Given the description of an element on the screen output the (x, y) to click on. 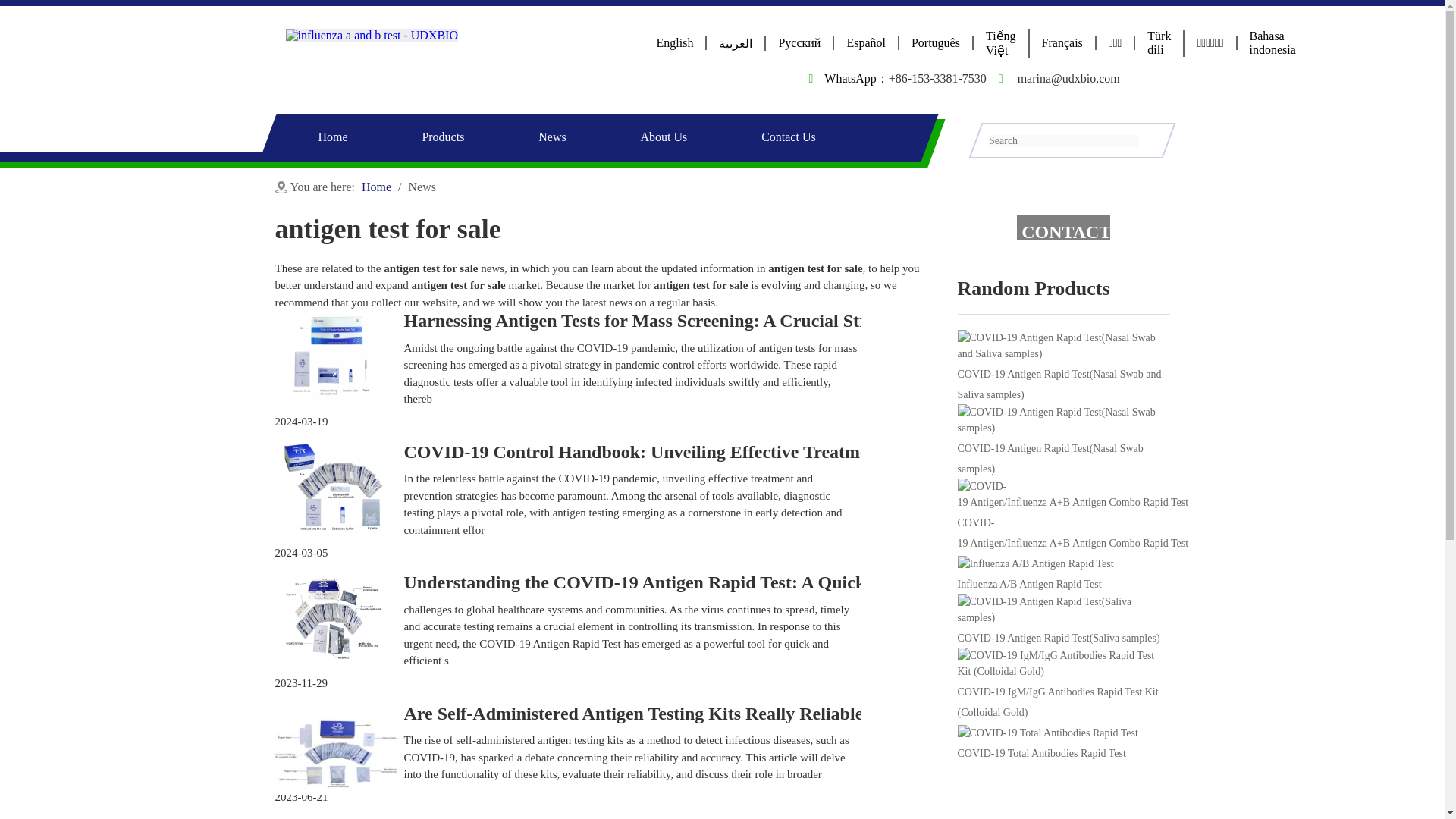
Are Self-Administered Antigen Testing Kits Really Reliable? (637, 713)
Are Self-Administered Antigen Testing Kits Really Reliable? (637, 713)
Products (443, 137)
Home (377, 186)
About Us (663, 137)
Bahasa indonesia (1272, 42)
English (675, 42)
